Given the description of an element on the screen output the (x, y) to click on. 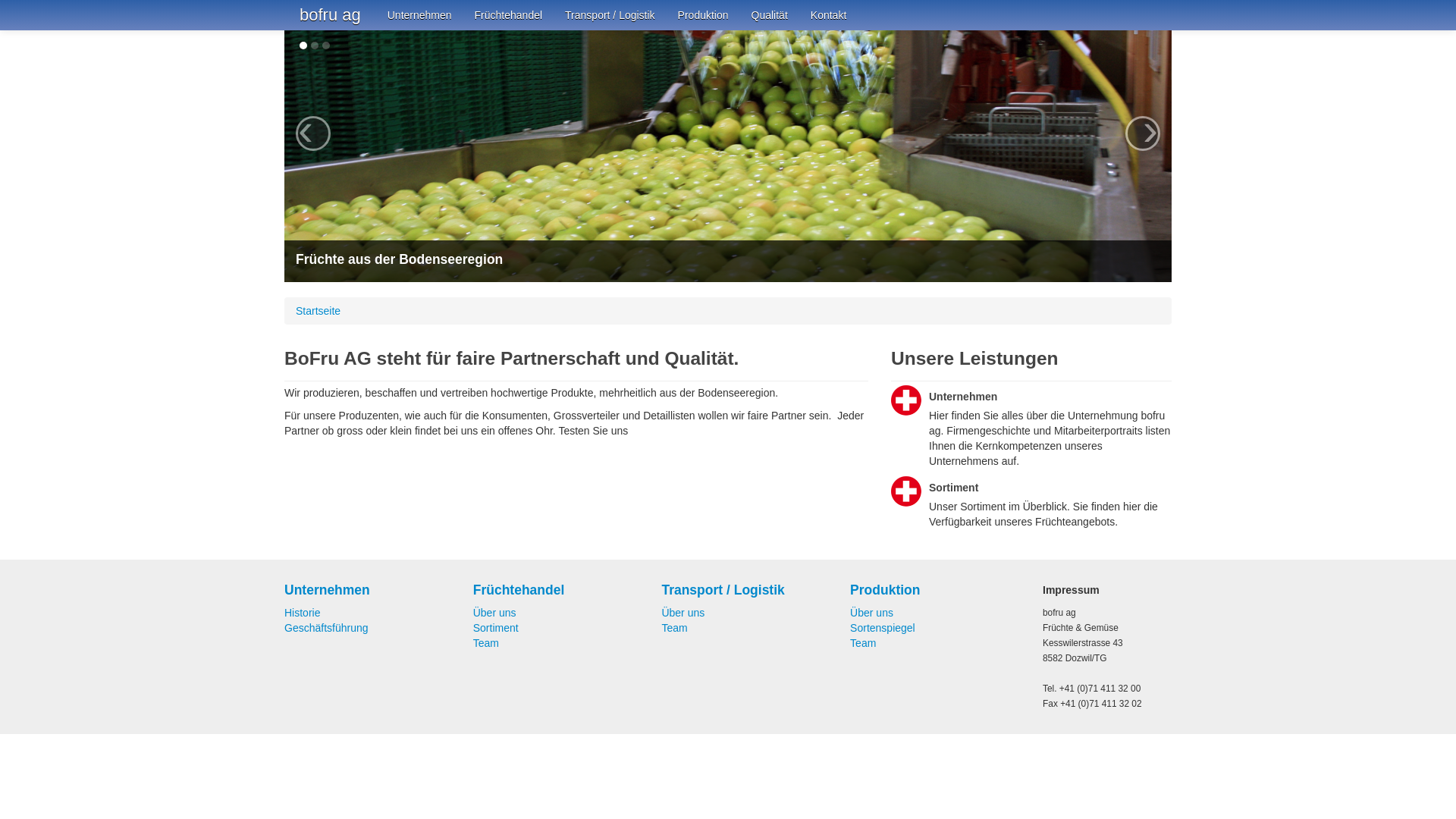
Team Element type: text (674, 627)
Team Element type: text (862, 643)
Startseite Element type: text (317, 310)
Transport / Logistik Element type: text (746, 589)
Sortenspiegel Element type: text (882, 627)
Historie Element type: text (302, 612)
Sortiment Element type: text (495, 627)
Unternehmen Element type: text (369, 589)
Kontakt Element type: text (828, 15)
Transport / Logistik Element type: text (609, 15)
Produktion Element type: text (934, 589)
Team Element type: text (485, 643)
bofru ag Element type: text (330, 15)
Produktion Element type: text (703, 15)
Header_Handel.png Element type: hover (727, 156)
Unternehmen Element type: text (419, 15)
